Given the description of an element on the screen output the (x, y) to click on. 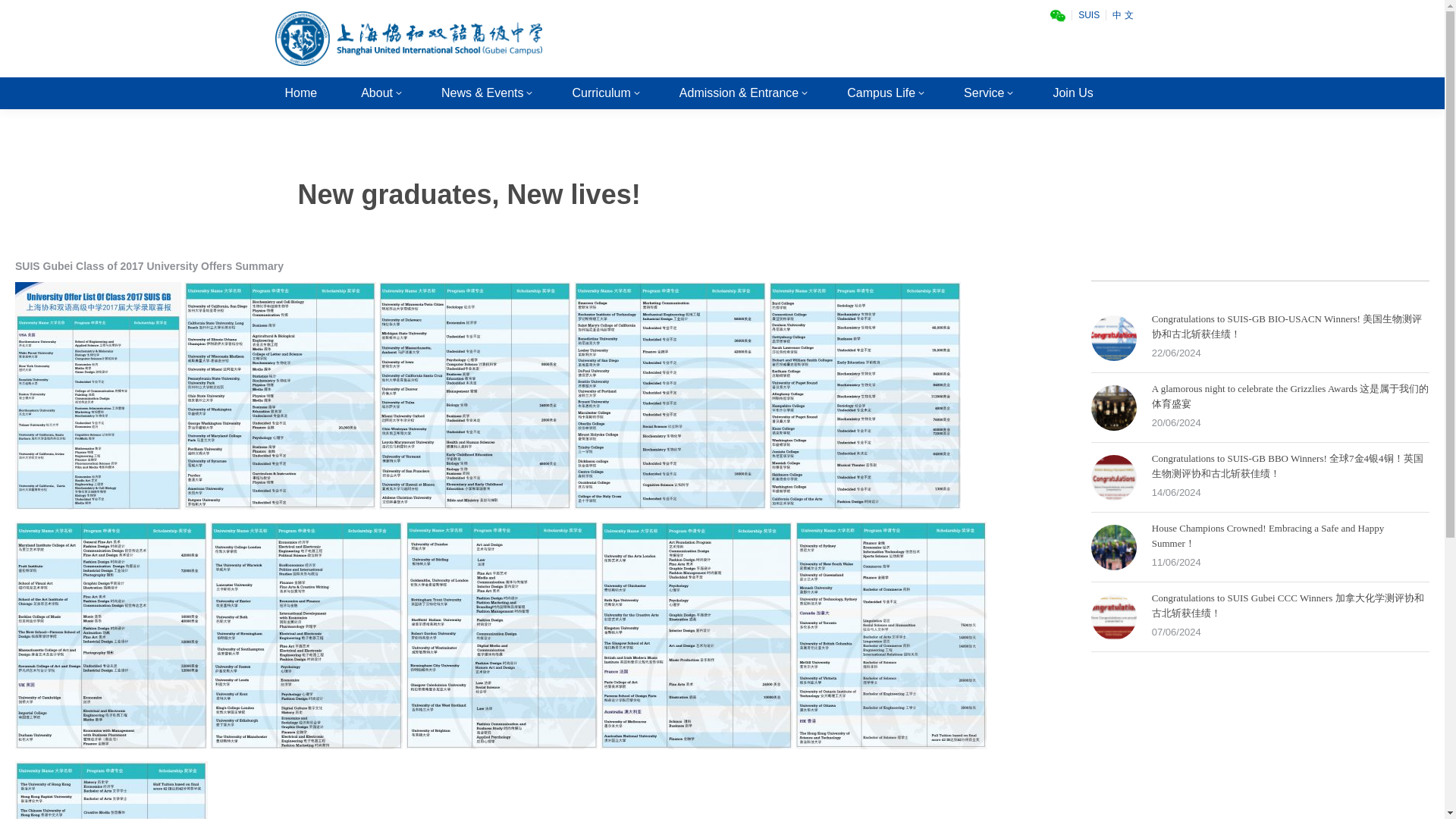
Home (301, 92)
SUIS (1088, 14)
Service (986, 92)
Campus Life (883, 92)
Join Us (1072, 92)
About (379, 92)
Curriculum (602, 92)
